Given the description of an element on the screen output the (x, y) to click on. 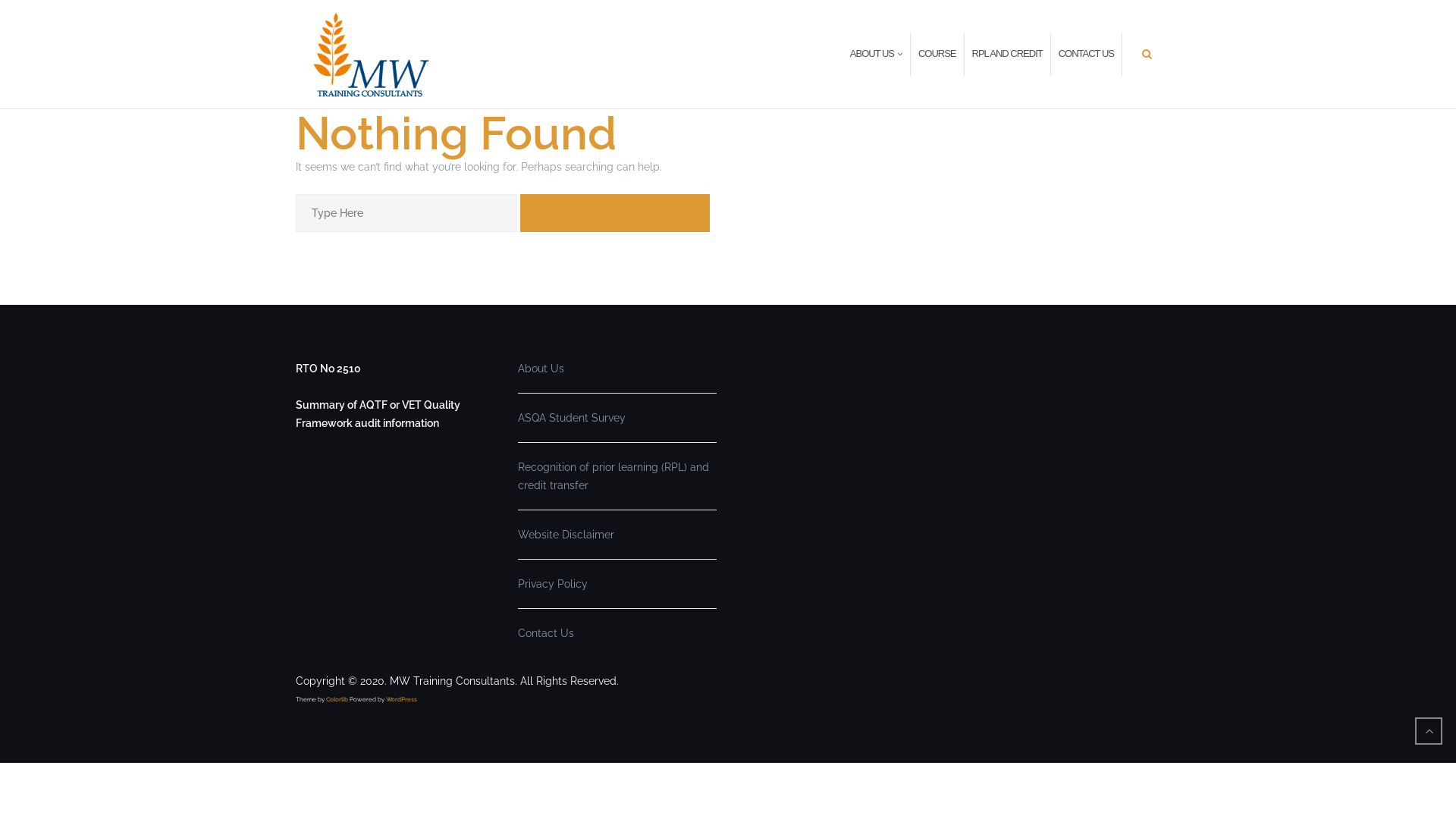
Website Disclaimer Element type: text (565, 534)
Contact Us Element type: text (545, 633)
COURSE Element type: text (937, 54)
Recognition of prior learning (RPL) and credit transfer Element type: text (612, 476)
About Us Element type: text (540, 368)
Colorlib Element type: text (337, 698)
CONTACT US Element type: text (1085, 54)
SEARCH Element type: text (614, 213)
Summary of AQTF or VET Quality Framework audit information Element type: text (377, 413)
ASQA Student Survey Element type: text (570, 417)
RTO No 2510 Element type: text (327, 368)
Privacy Policy Element type: text (551, 583)
RPL AND CREDIT Element type: text (1007, 54)
WordPress Element type: text (401, 698)
ABOUT US Element type: text (872, 54)
